Given the description of an element on the screen output the (x, y) to click on. 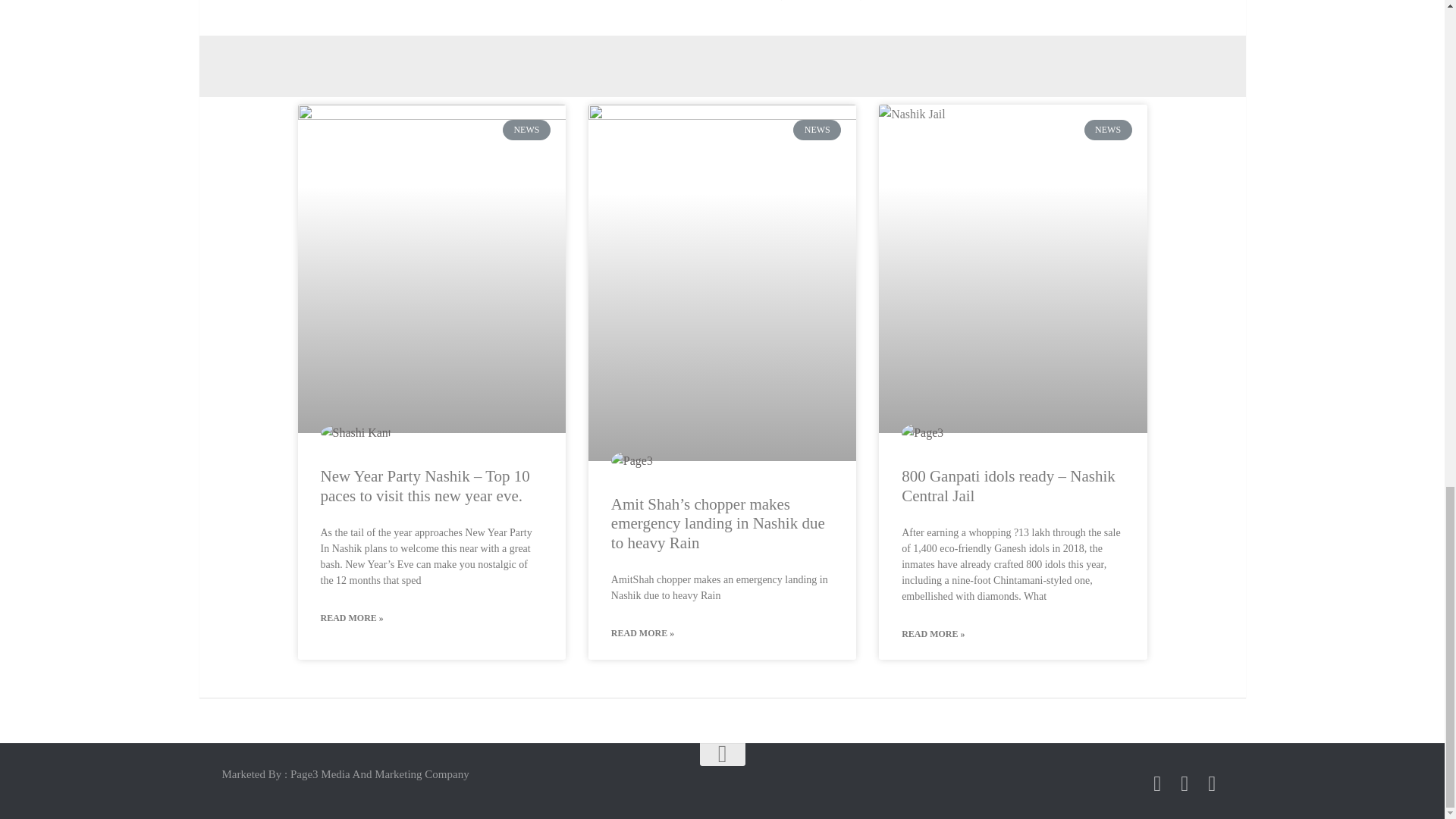
Follow us on Facebook (1157, 783)
Follow us on Twitter (1184, 783)
Follow us on Youtube (1212, 783)
